Given the description of an element on the screen output the (x, y) to click on. 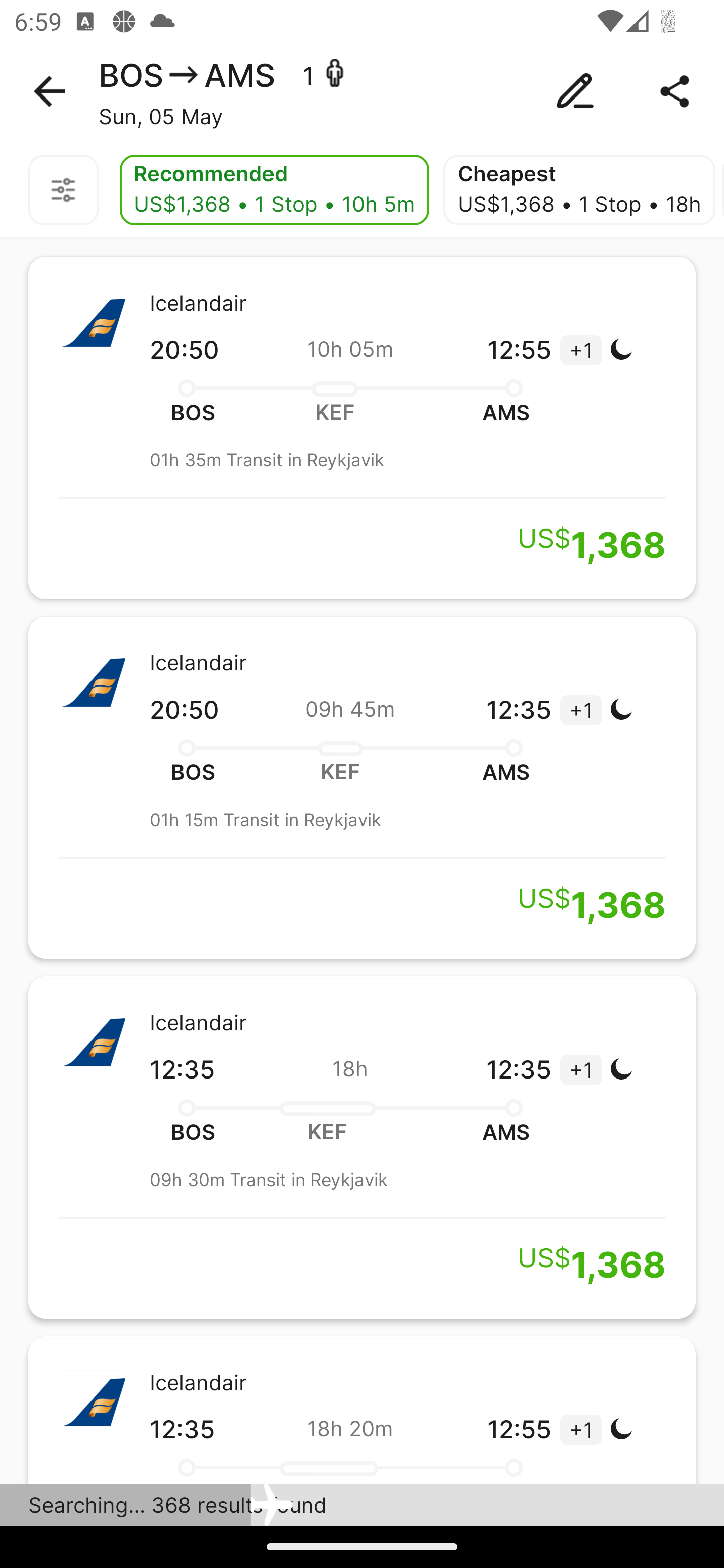
BOS AMS   1 - Sun, 05 May (361, 91)
Recommended  US$1,368 • 1 Stop • 10h 5m (274, 190)
Cheapest US$1,368 • 1 Stop • 18h (579, 190)
Icelandair 12:35 18h 20m 12:55 BOS KEF AMS +1 (361, 1409)
